Given the description of an element on the screen output the (x, y) to click on. 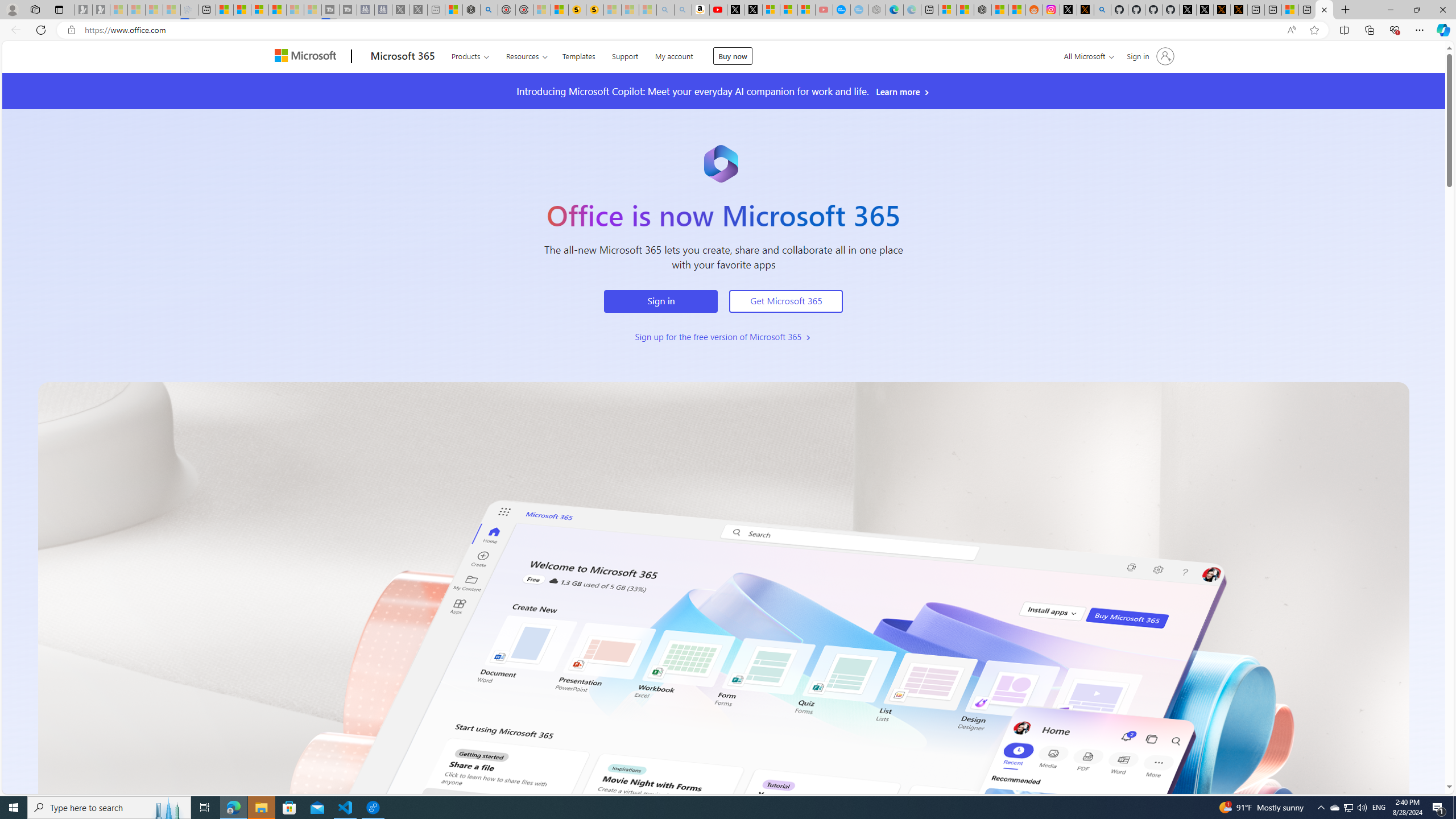
Login | Microsoft 365 (1324, 9)
New tab - Sleeping (435, 9)
Day 1: Arriving in Yemen (surreal to be here) - YouTube (718, 9)
Wildlife - MSN (453, 9)
Microsoft 365 Logo (721, 163)
Amazon Echo Dot PNG - Search Images - Sleeping (683, 9)
